Given the description of an element on the screen output the (x, y) to click on. 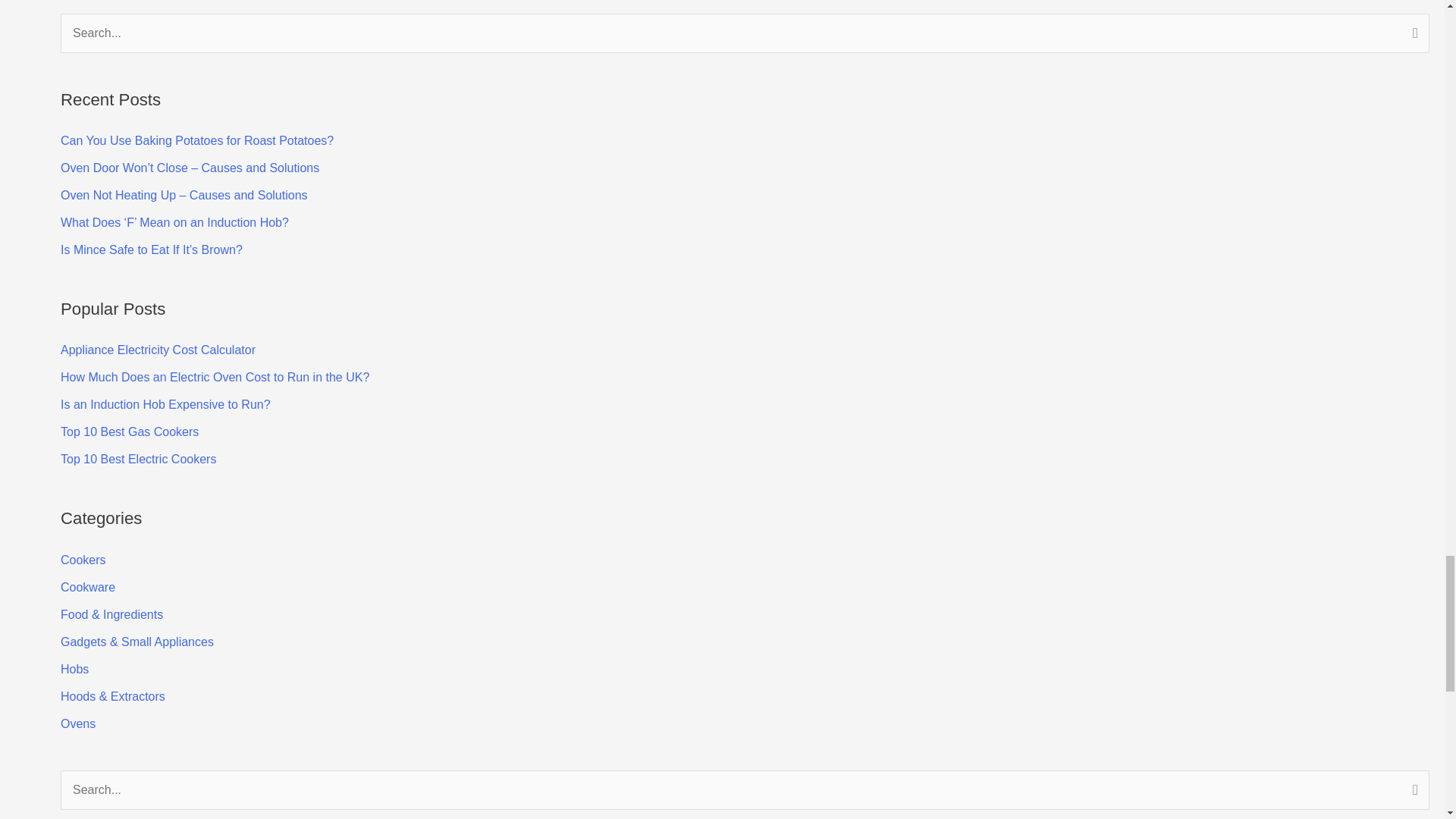
Can You Use Baking Potatoes for Roast Potatoes? (197, 140)
How Much Does an Electric Oven Cost to Run in the UK? (215, 377)
Appliance Electricity Cost Calculator (158, 349)
Is an Induction Hob Expensive to Run? (165, 404)
Top 10 Best Gas Cookers (129, 431)
